Given the description of an element on the screen output the (x, y) to click on. 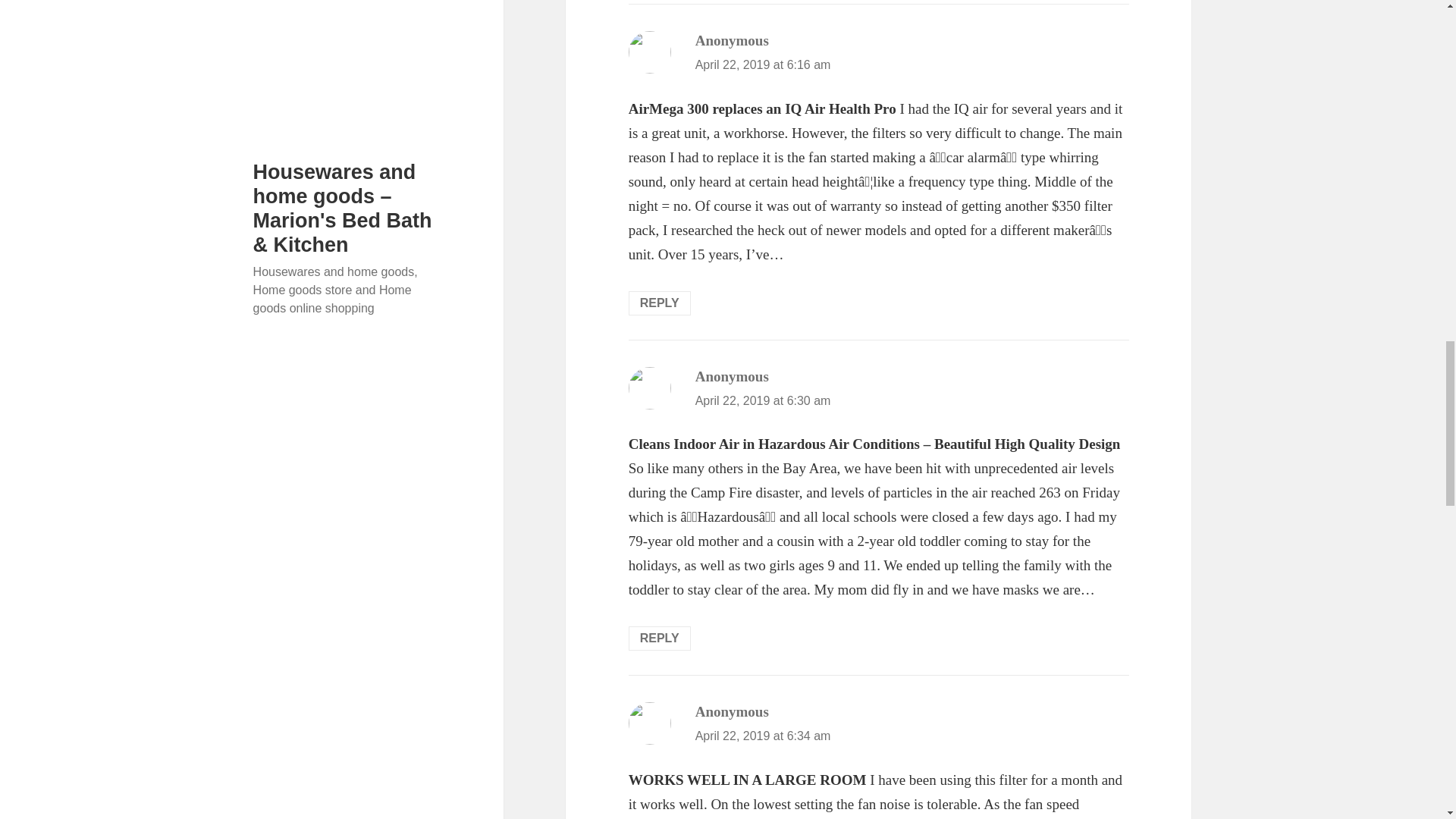
April 22, 2019 at 6:30 am (763, 400)
REPLY (659, 303)
April 22, 2019 at 6:34 am (763, 735)
April 22, 2019 at 6:16 am (763, 64)
REPLY (659, 638)
